Given the description of an element on the screen output the (x, y) to click on. 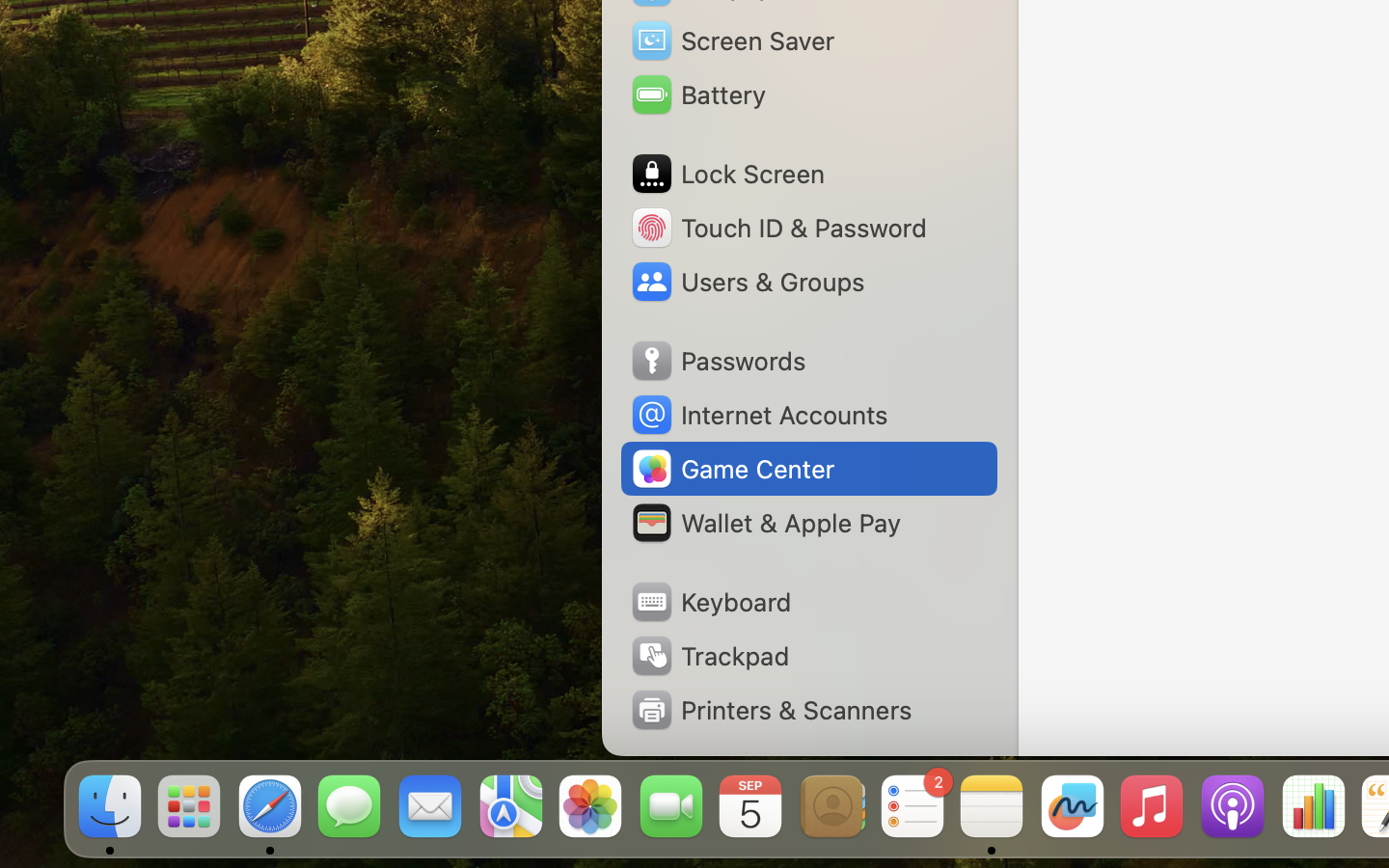
Lock Screen Element type: AXStaticText (726, 173)
Passwords Element type: AXStaticText (717, 360)
Touch ID & Password Element type: AXStaticText (777, 227)
Keyboard Element type: AXStaticText (709, 601)
Game Center Element type: AXStaticText (731, 468)
